Given the description of an element on the screen output the (x, y) to click on. 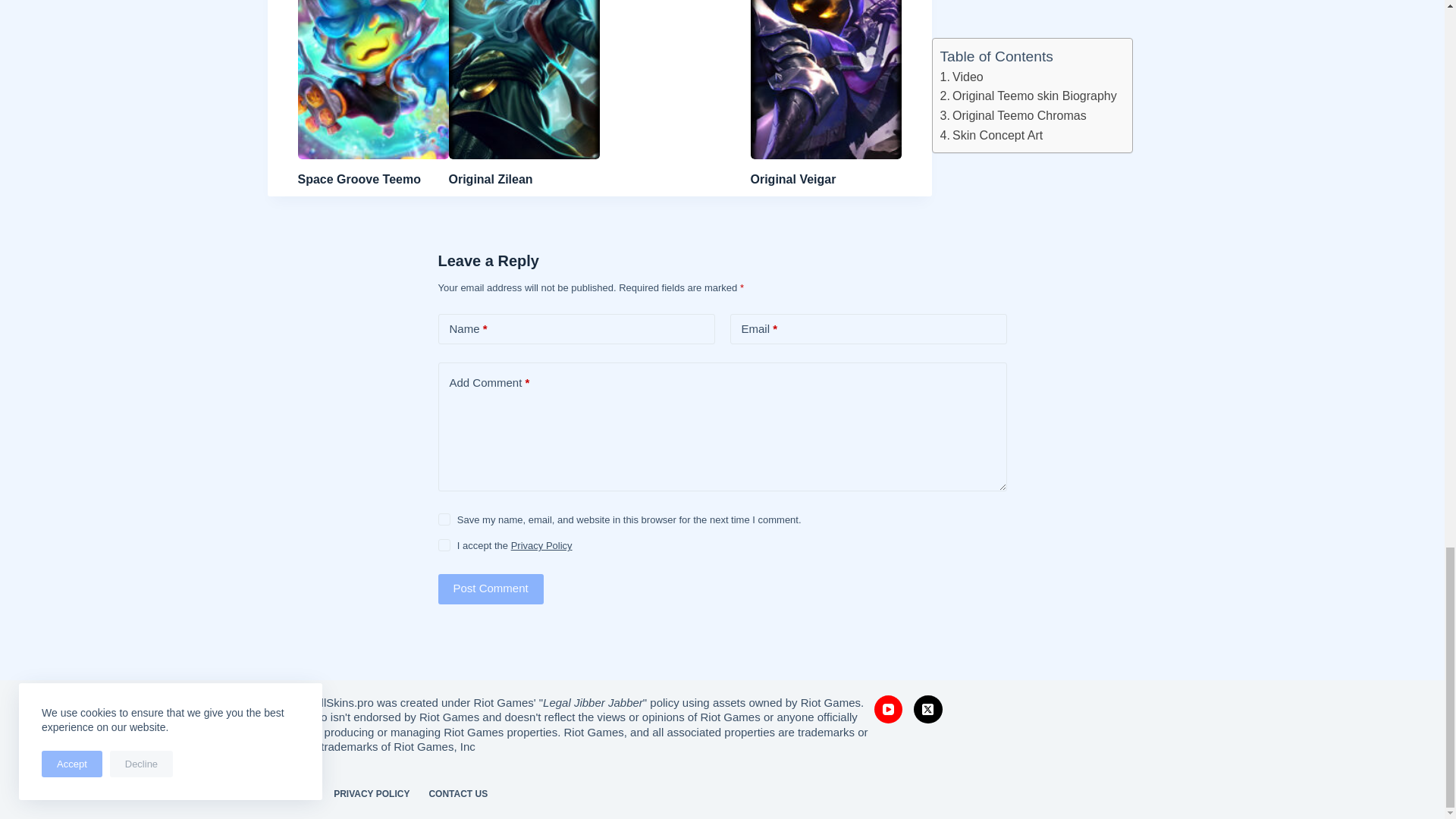
Space Groove Teemo (358, 178)
on (443, 544)
Original Veigar (793, 178)
Original Zilean (490, 178)
yes (443, 519)
